Given the description of an element on the screen output the (x, y) to click on. 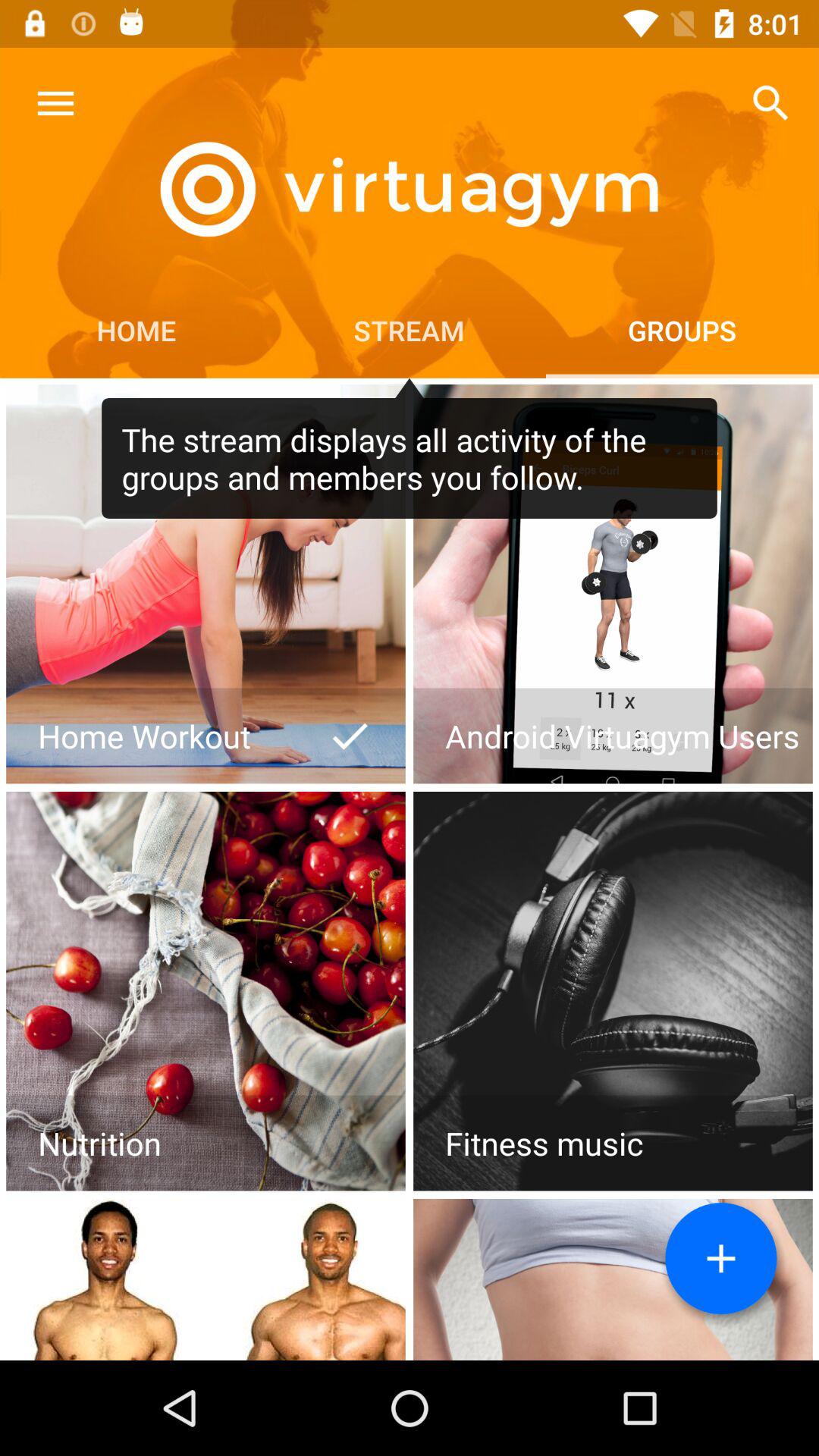
add stream (721, 1258)
